Given the description of an element on the screen output the (x, y) to click on. 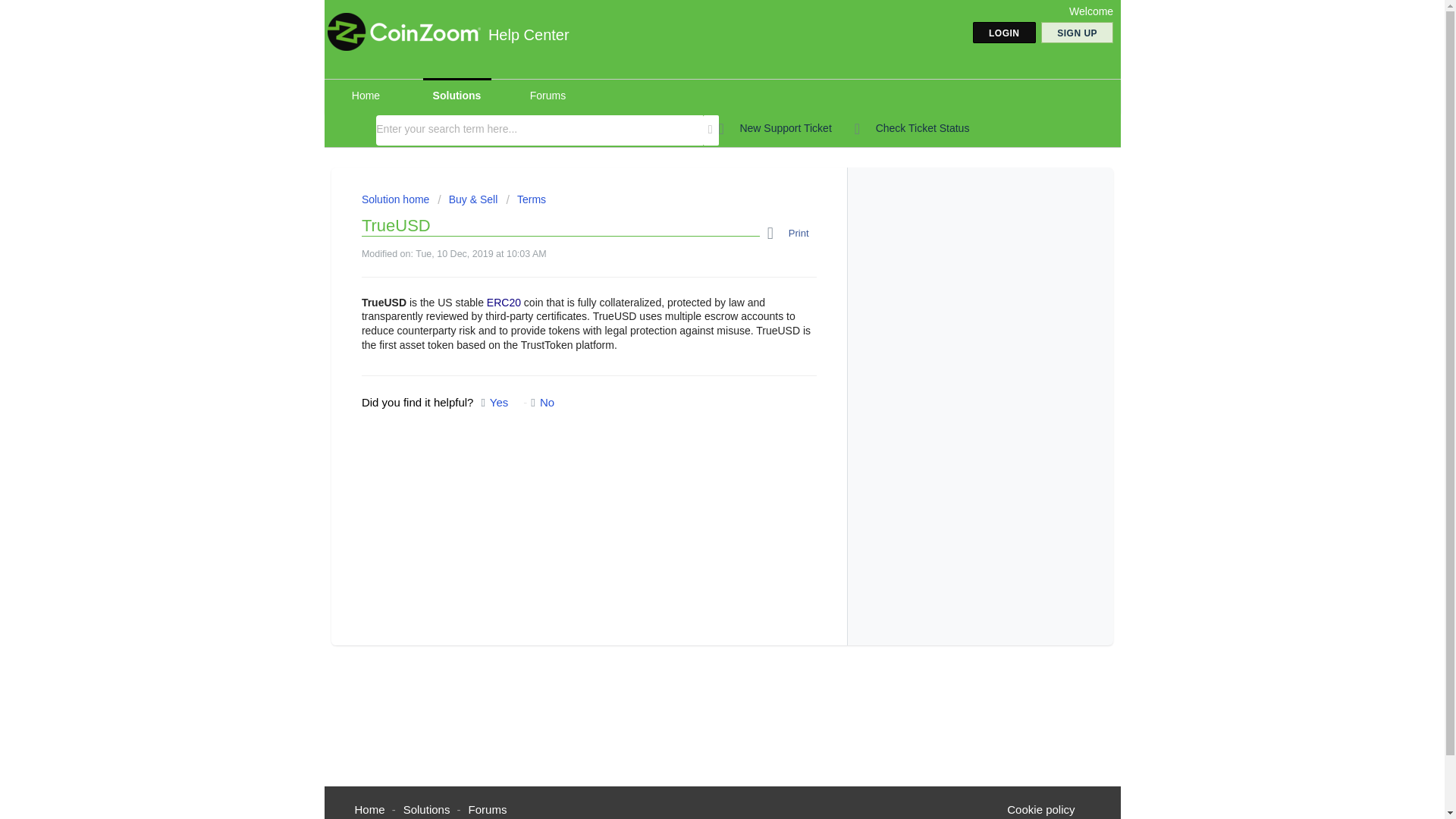
Solutions (426, 809)
Forums (547, 95)
Home (365, 95)
Terms (526, 199)
Solution home (396, 199)
ERC20 (503, 301)
Home (370, 809)
Forums (487, 809)
ERC20 (503, 301)
Solutions (457, 95)
